Given the description of an element on the screen output the (x, y) to click on. 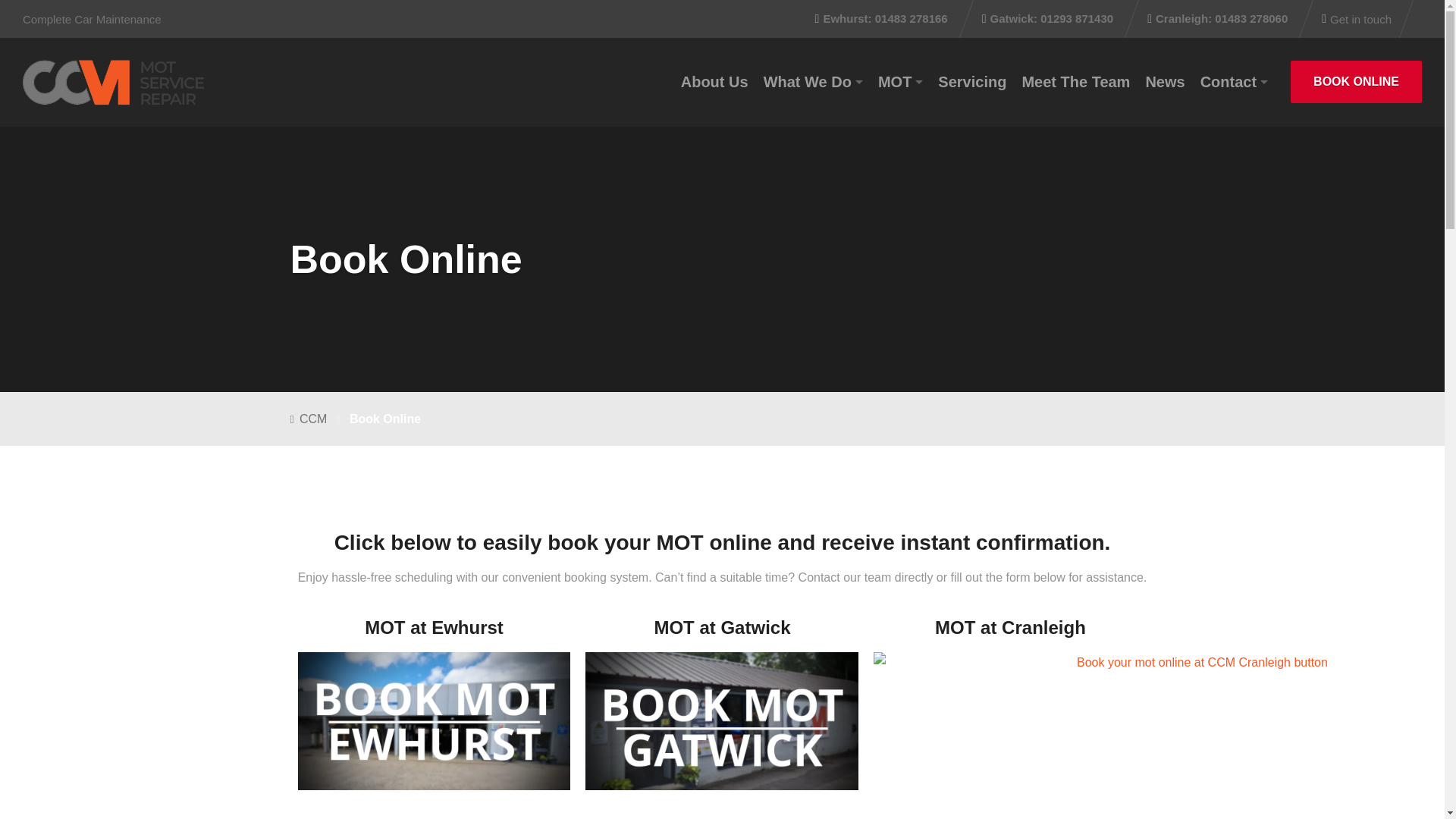
Get in touch (1356, 19)
Gatwick: 01293 871430 (1048, 19)
Cranleigh: 01483 278060 (1219, 19)
MOT (900, 81)
Ewhurst: 01483 278166 (883, 19)
About Us (714, 81)
What We Do (812, 81)
Go to CCM. (319, 418)
CCM (114, 81)
